Given the description of an element on the screen output the (x, y) to click on. 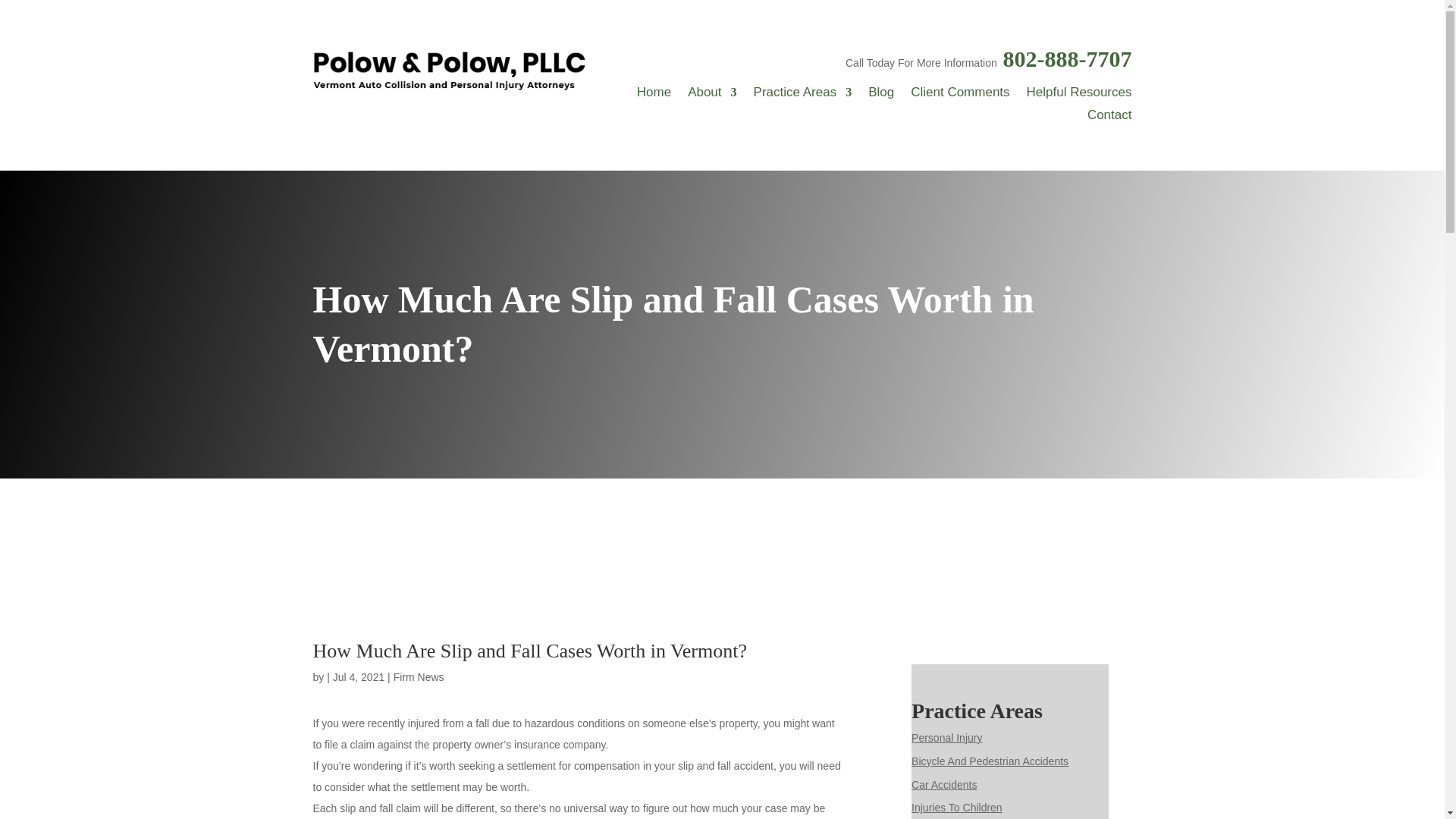
Helpful Resources (1079, 95)
Practice Areas (802, 95)
Contact (1109, 117)
802-888-7707 (1067, 58)
About (711, 95)
Home (654, 95)
logo-min (449, 71)
Client Comments (960, 95)
Blog (880, 95)
